Given the description of an element on the screen output the (x, y) to click on. 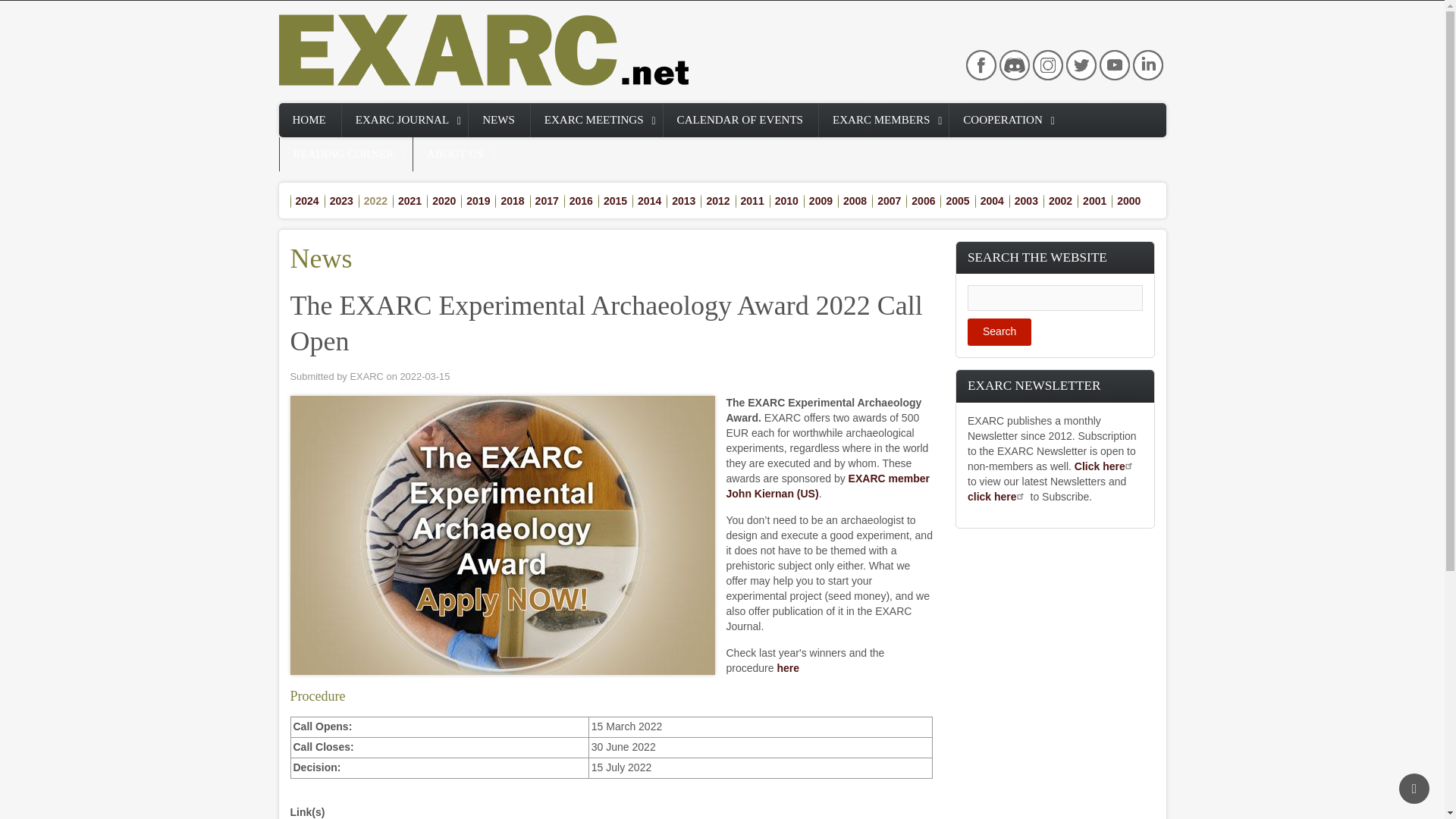
Tuesday, March 15, 2022 (423, 376)
NEWS (498, 120)
Search (999, 331)
EXARC MEETINGS (596, 120)
CALENDAR OF EVENTS (740, 120)
Enter the terms you wish to search for. (1055, 298)
COOPERATION (1005, 120)
EXARC JOURNAL (404, 120)
HOME (309, 120)
